Given the description of an element on the screen output the (x, y) to click on. 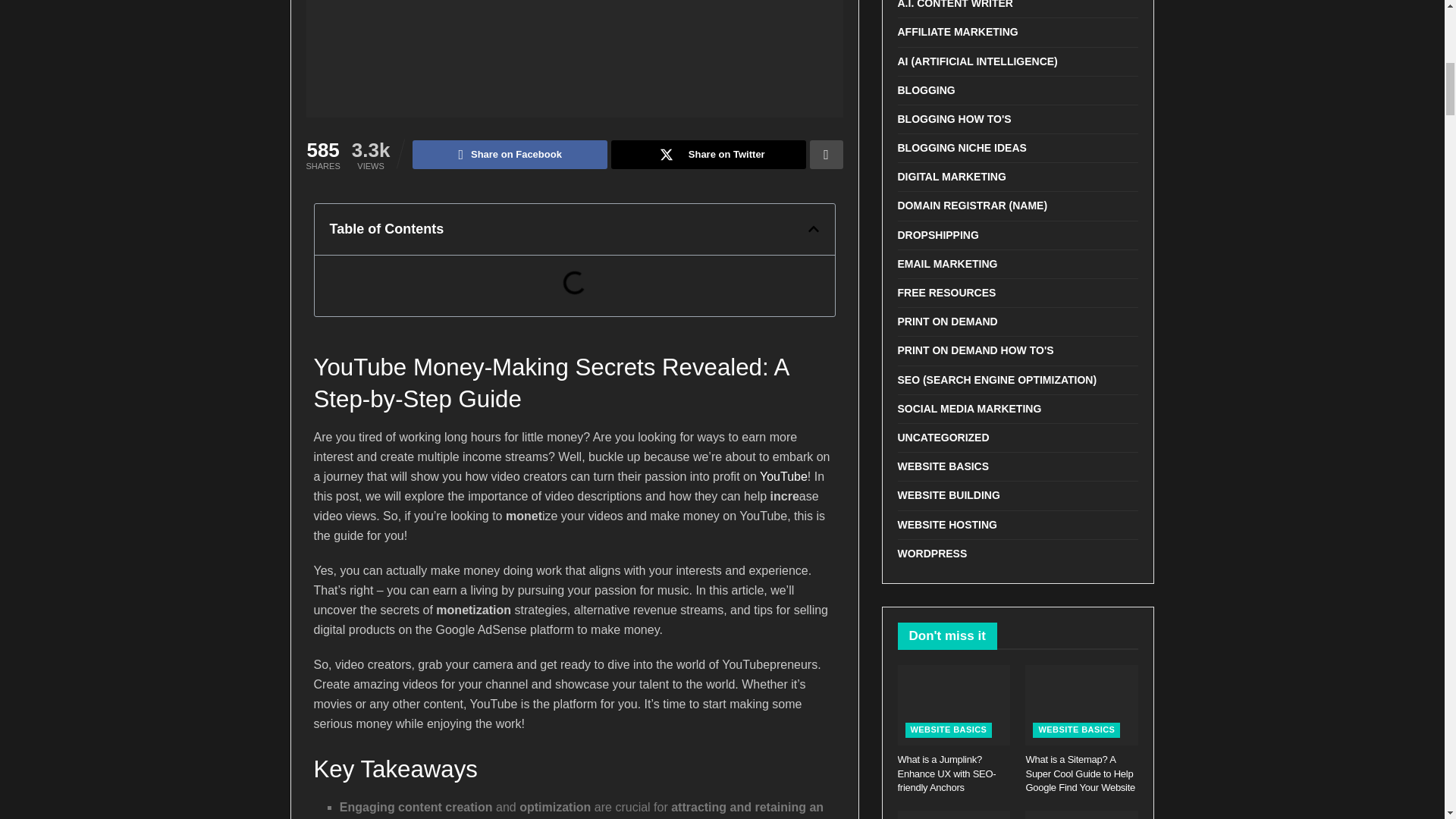
Share on Twitter (708, 154)
Share on Facebook (509, 154)
